Given the description of an element on the screen output the (x, y) to click on. 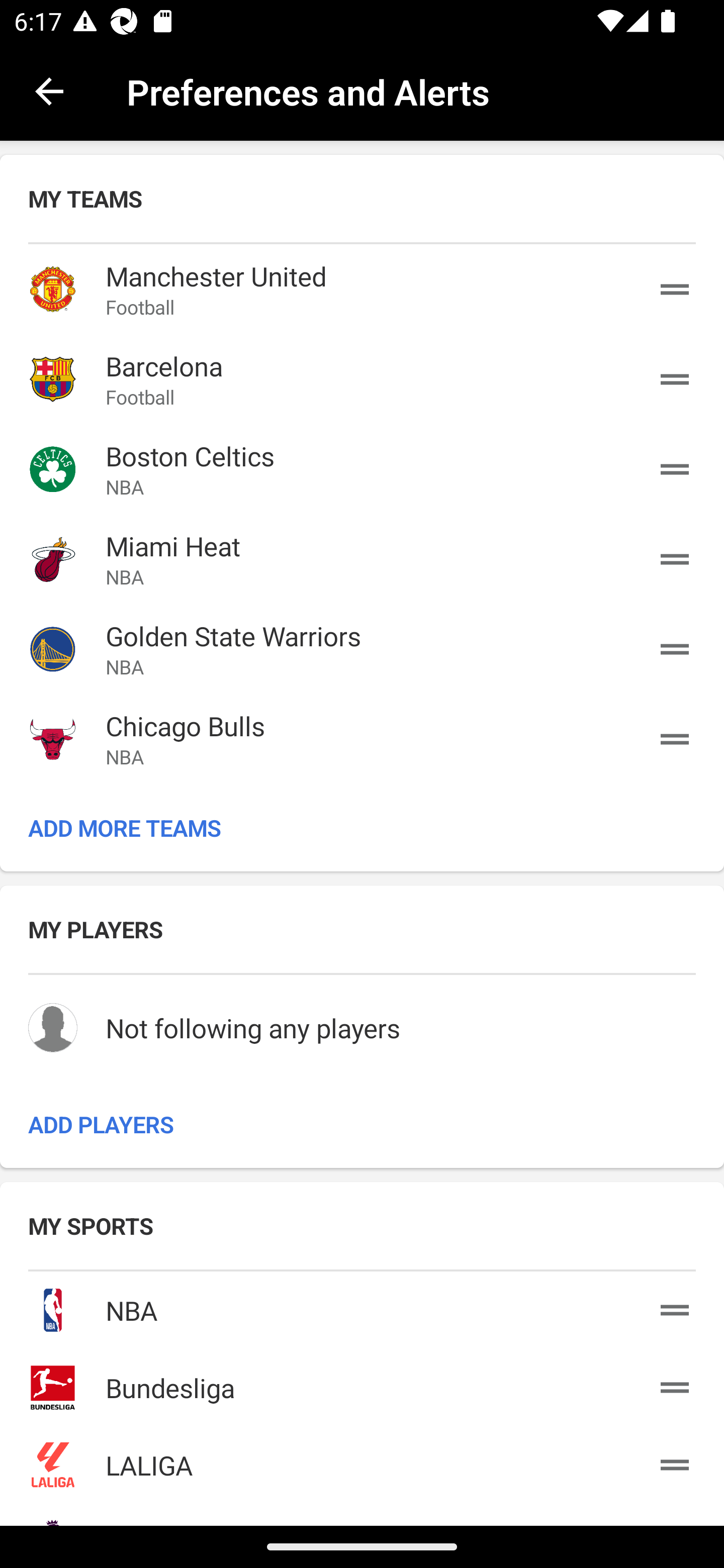
back.button (49, 90)
Barcelona Barcelona Barcelona Football Football (362, 378)
Miami Heat Miami Heat Miami Heat NBA NBA (362, 558)
Chicago Bulls Chicago Bulls Chicago Bulls NBA NBA (362, 739)
ADD MORE TEAMS (362, 827)
ADD PLAYERS (362, 1124)
NBA NBA NBA (362, 1306)
Bundesliga Bundesliga Bundesliga (362, 1383)
LALIGA LALIGA LALIGA (362, 1461)
